Given the description of an element on the screen output the (x, y) to click on. 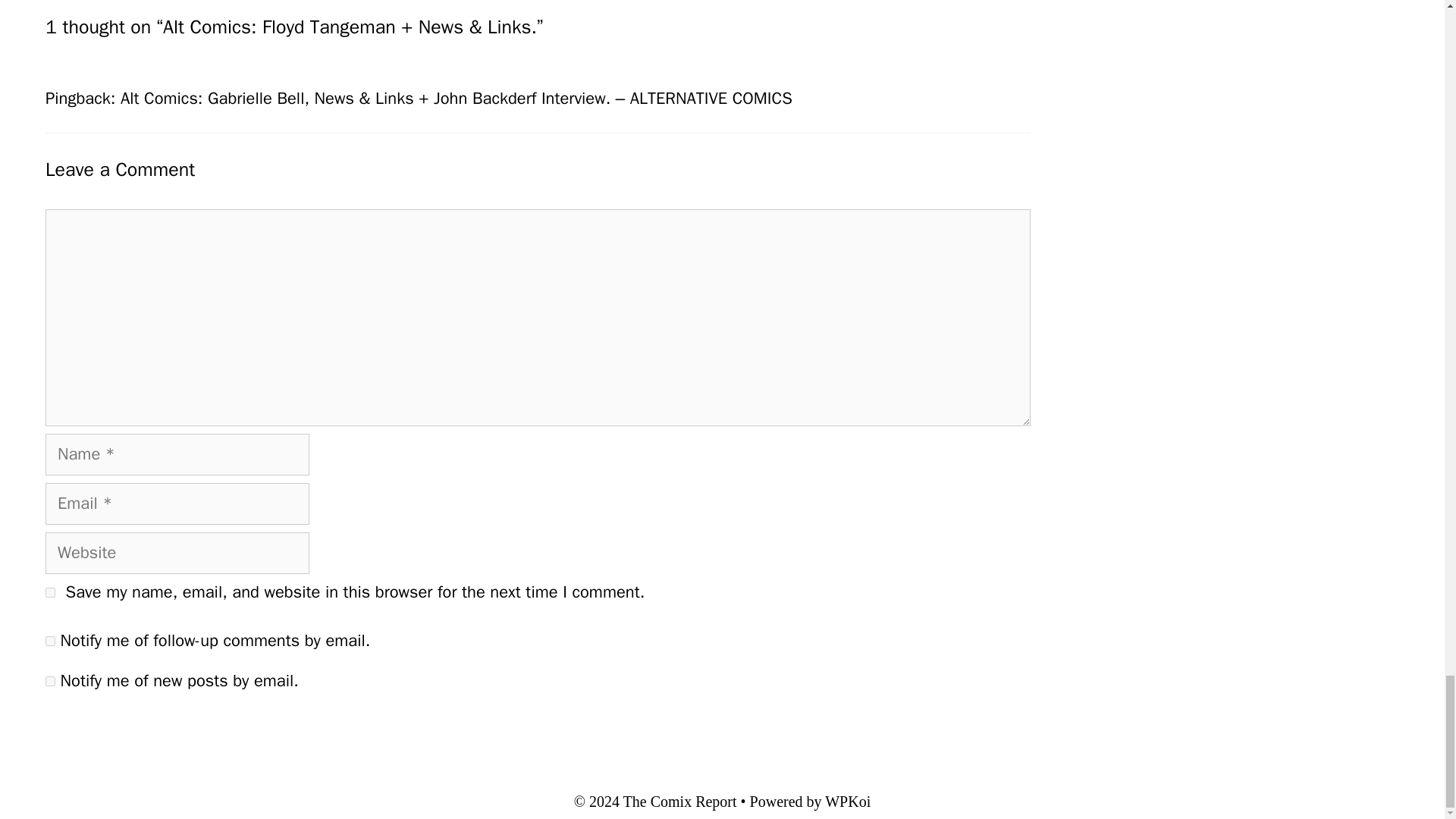
subscribe (50, 681)
Post Comment (111, 731)
yes (50, 592)
Post Comment (111, 731)
subscribe (50, 641)
